Given the description of an element on the screen output the (x, y) to click on. 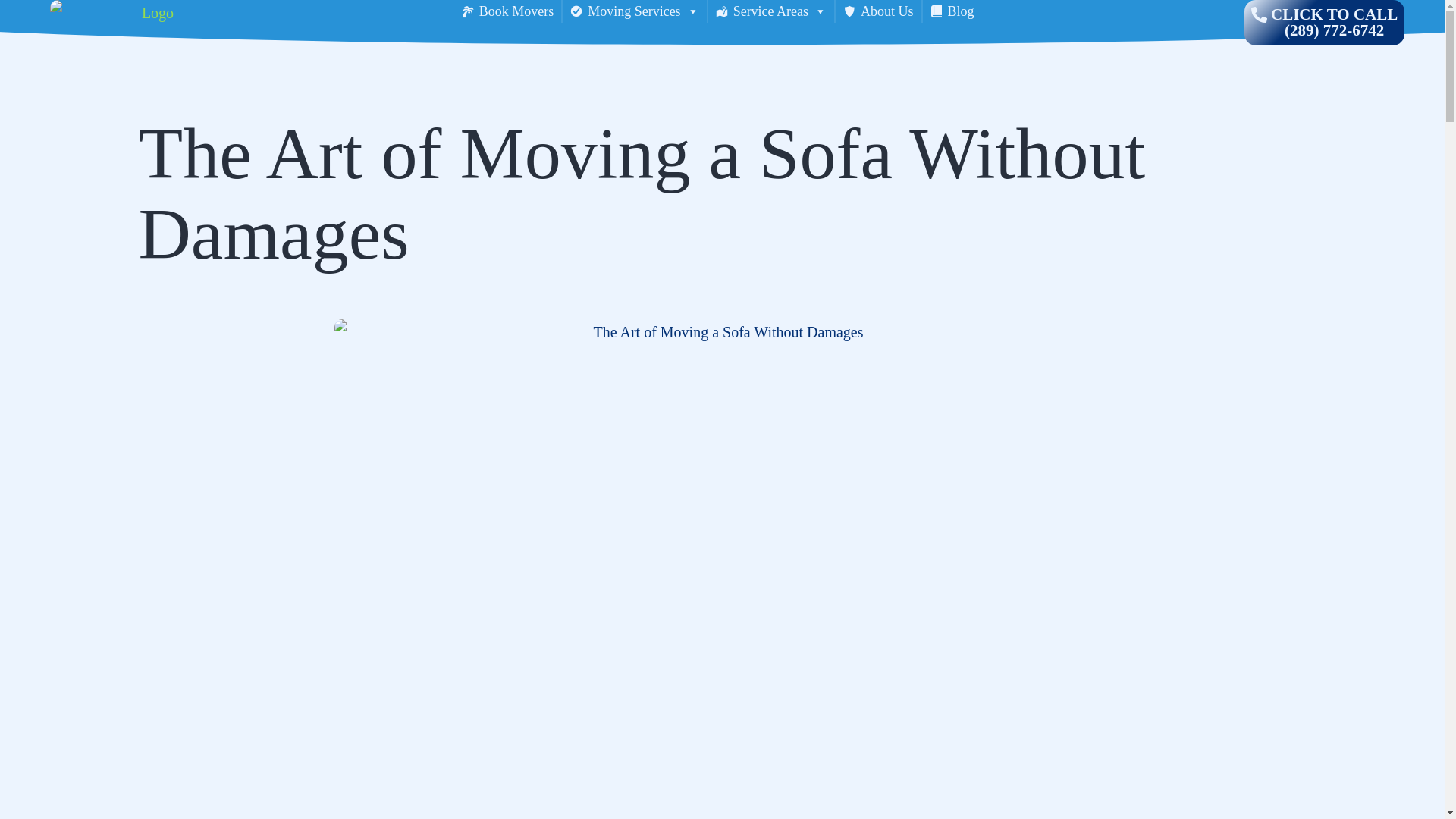
Service Areas (770, 11)
Moving Services (634, 11)
Logo (151, 22)
Book Movers (507, 11)
